Given the description of an element on the screen output the (x, y) to click on. 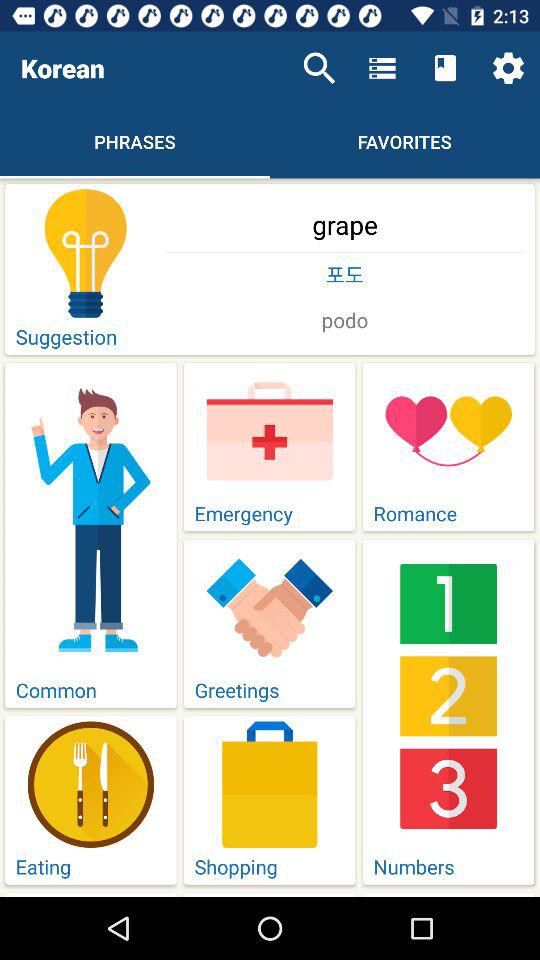
open icon next to the korean item (319, 67)
